Given the description of an element on the screen output the (x, y) to click on. 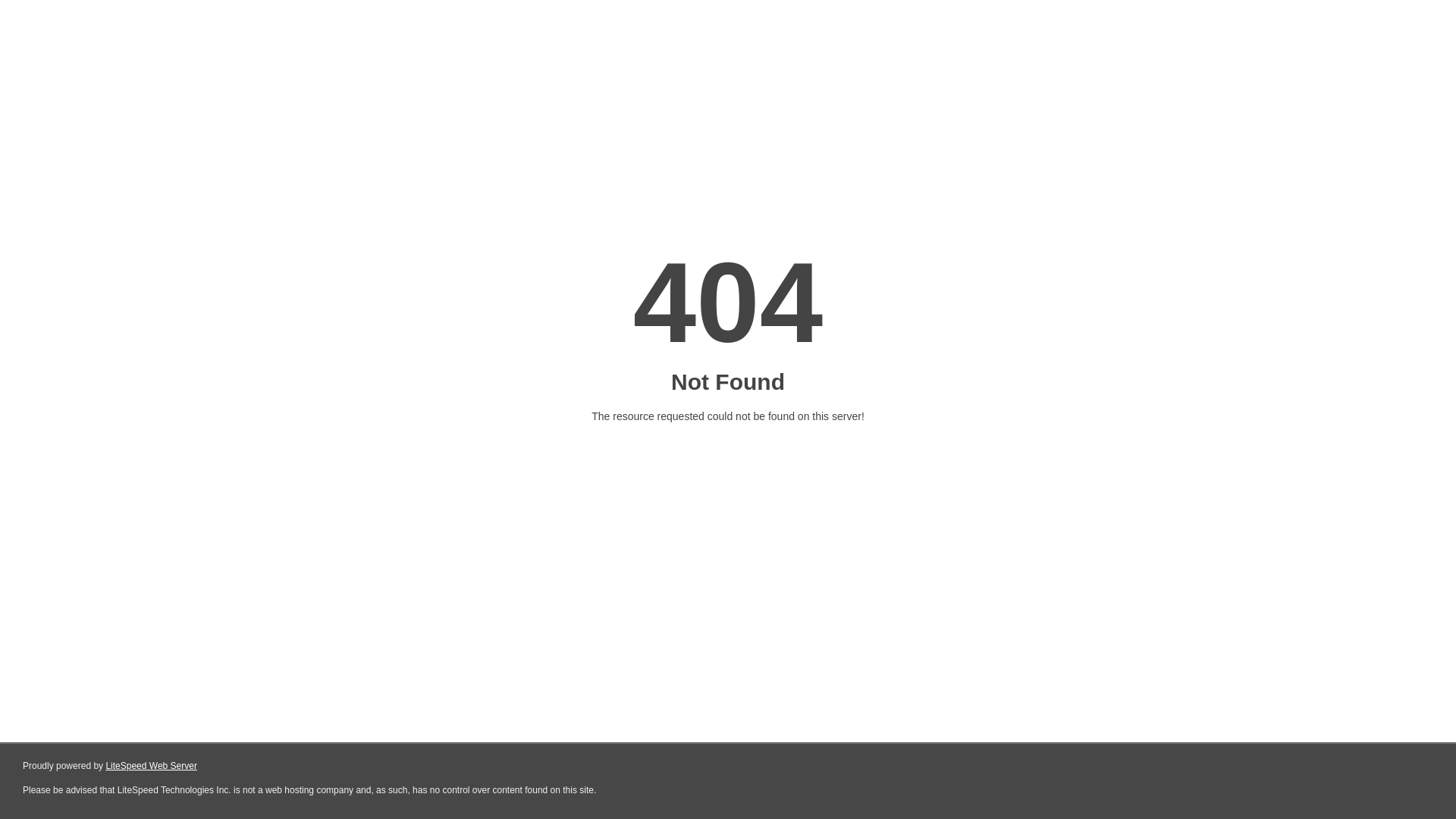
LiteSpeed Web Server Element type: text (151, 765)
